Given the description of an element on the screen output the (x, y) to click on. 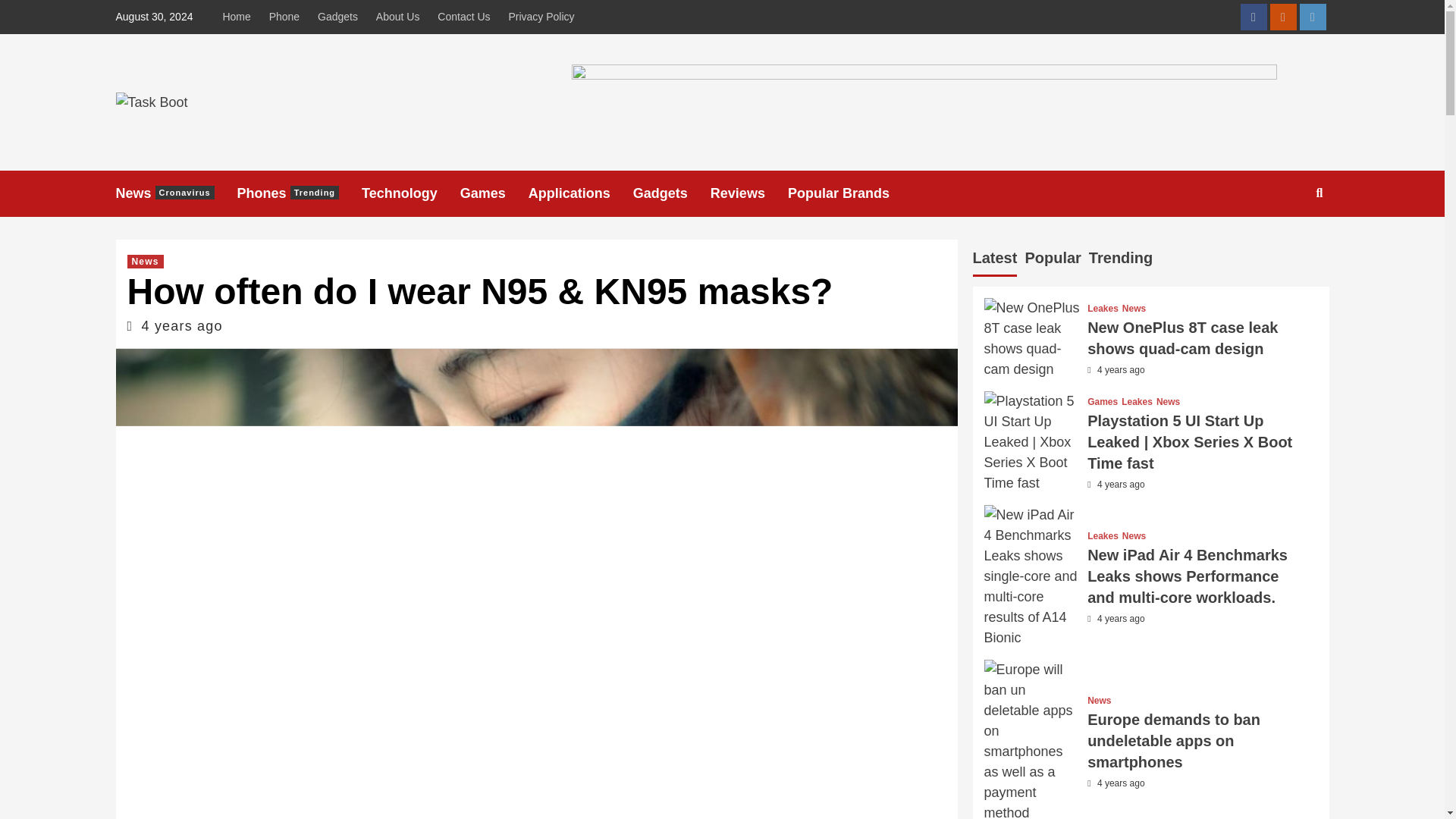
Applications (580, 193)
Games (494, 193)
Twitter (1313, 17)
Home (239, 17)
Reviews (748, 193)
Popular Brands (849, 193)
Facebook (1253, 17)
Privacy Policy (540, 17)
Contact Us (463, 17)
Gadgets (337, 17)
